Given the description of an element on the screen output the (x, y) to click on. 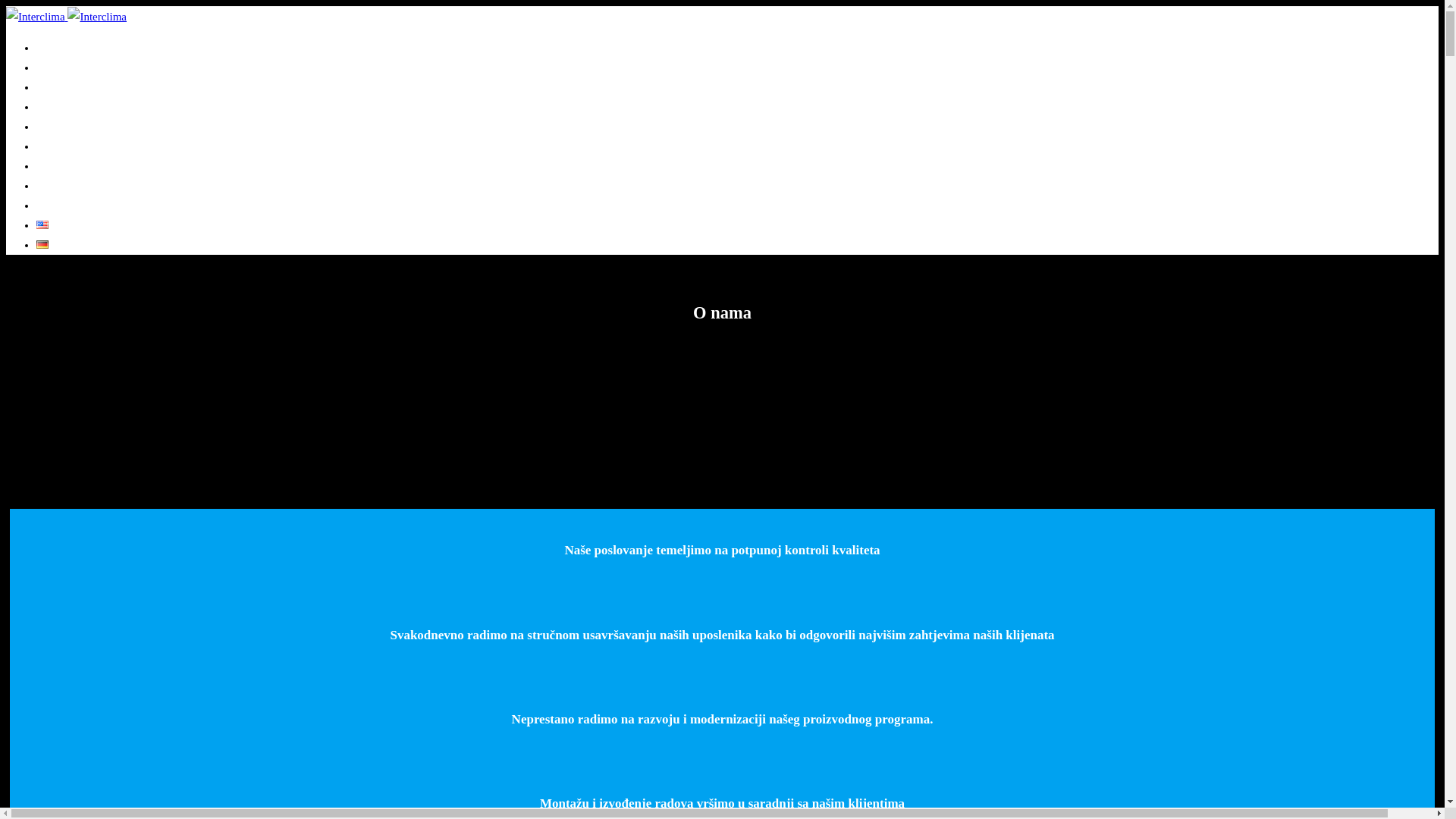
Usluge Element type: text (52, 126)
Reference Element type: text (60, 166)
Projektovanje Element type: text (70, 87)
Katalozi Element type: text (56, 185)
O nama Element type: text (55, 67)
Kontakt Element type: text (56, 205)
Proizvodnja Element type: text (65, 106)
Vijesti Element type: text (51, 146)
